Given the description of an element on the screen output the (x, y) to click on. 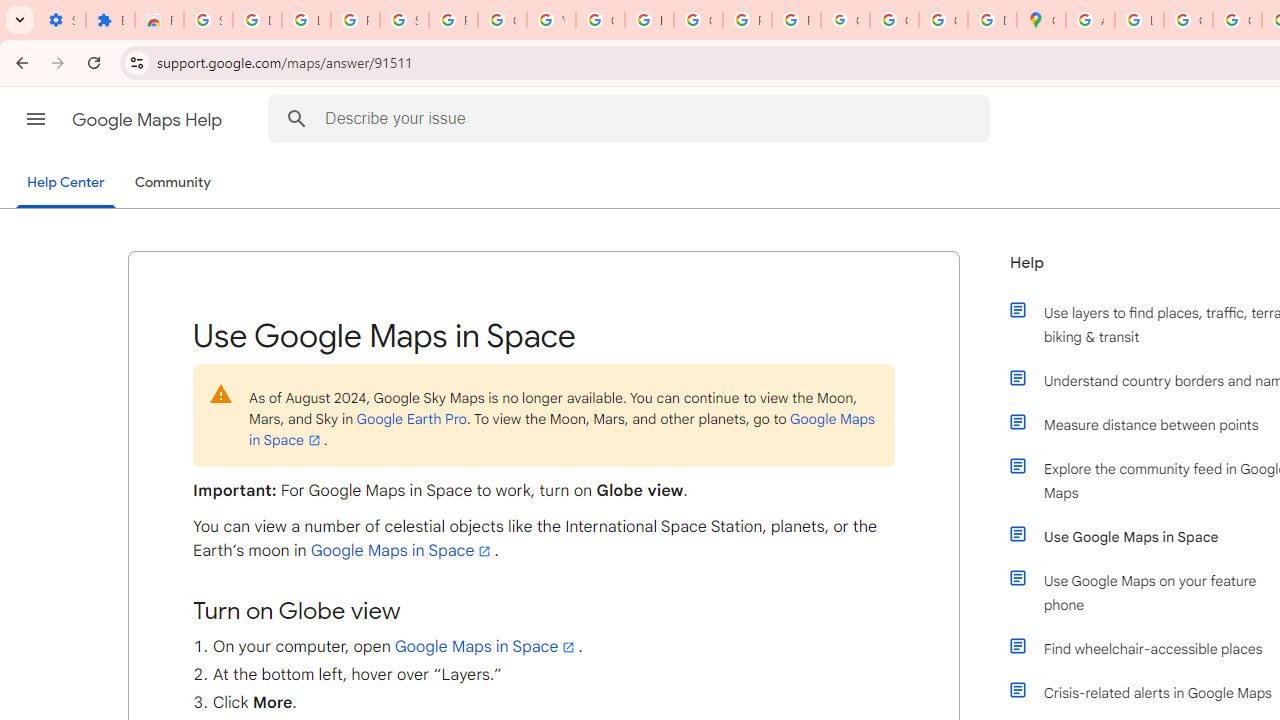
Google Earth Pro (411, 418)
Search Help Center (297, 118)
Sign in - Google Accounts (208, 20)
https://scholar.google.com/ (649, 20)
Google Account (502, 20)
YouTube (551, 20)
